Given the description of an element on the screen output the (x, y) to click on. 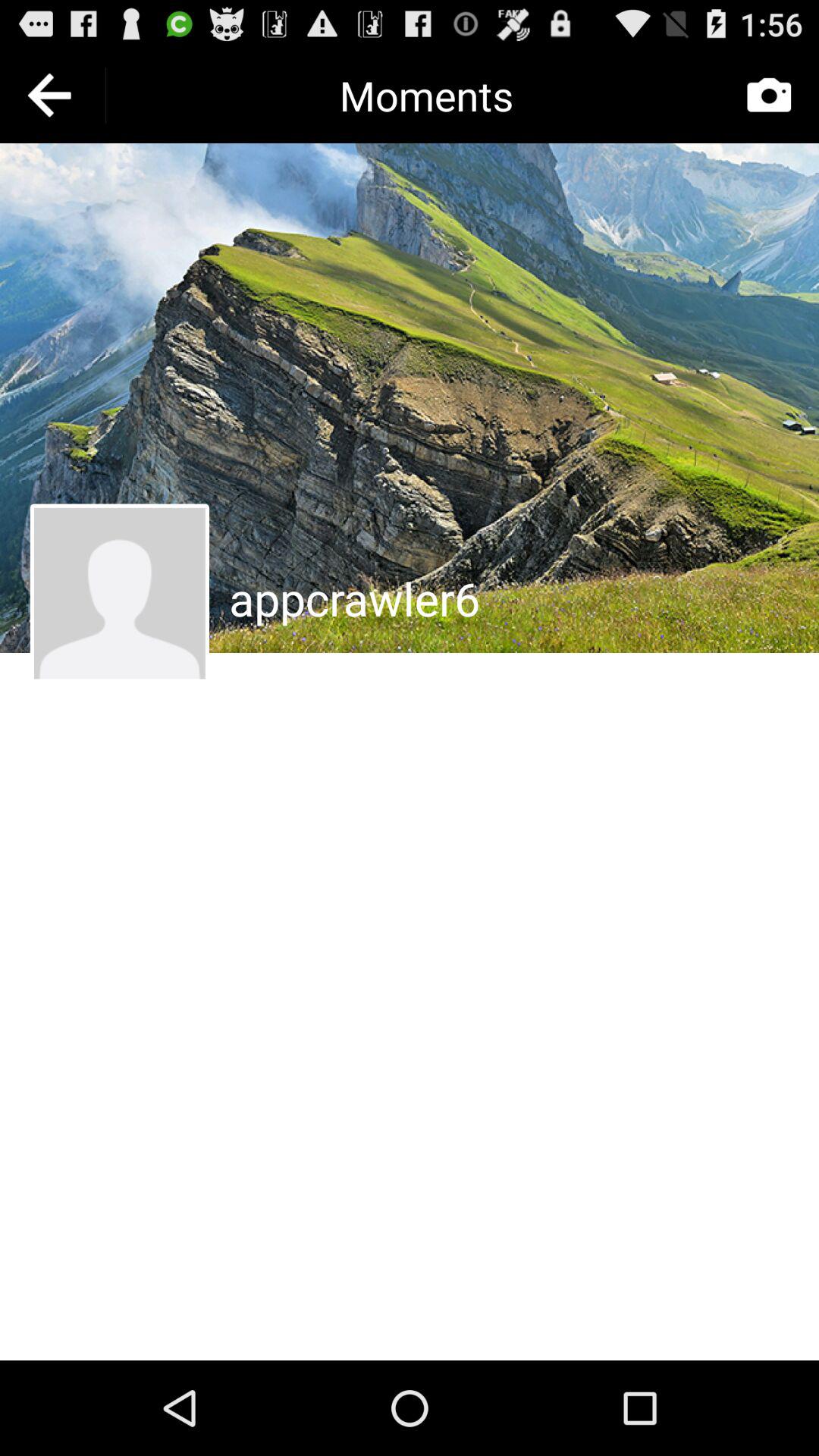
user profile button (119, 593)
